Given the description of an element on the screen output the (x, y) to click on. 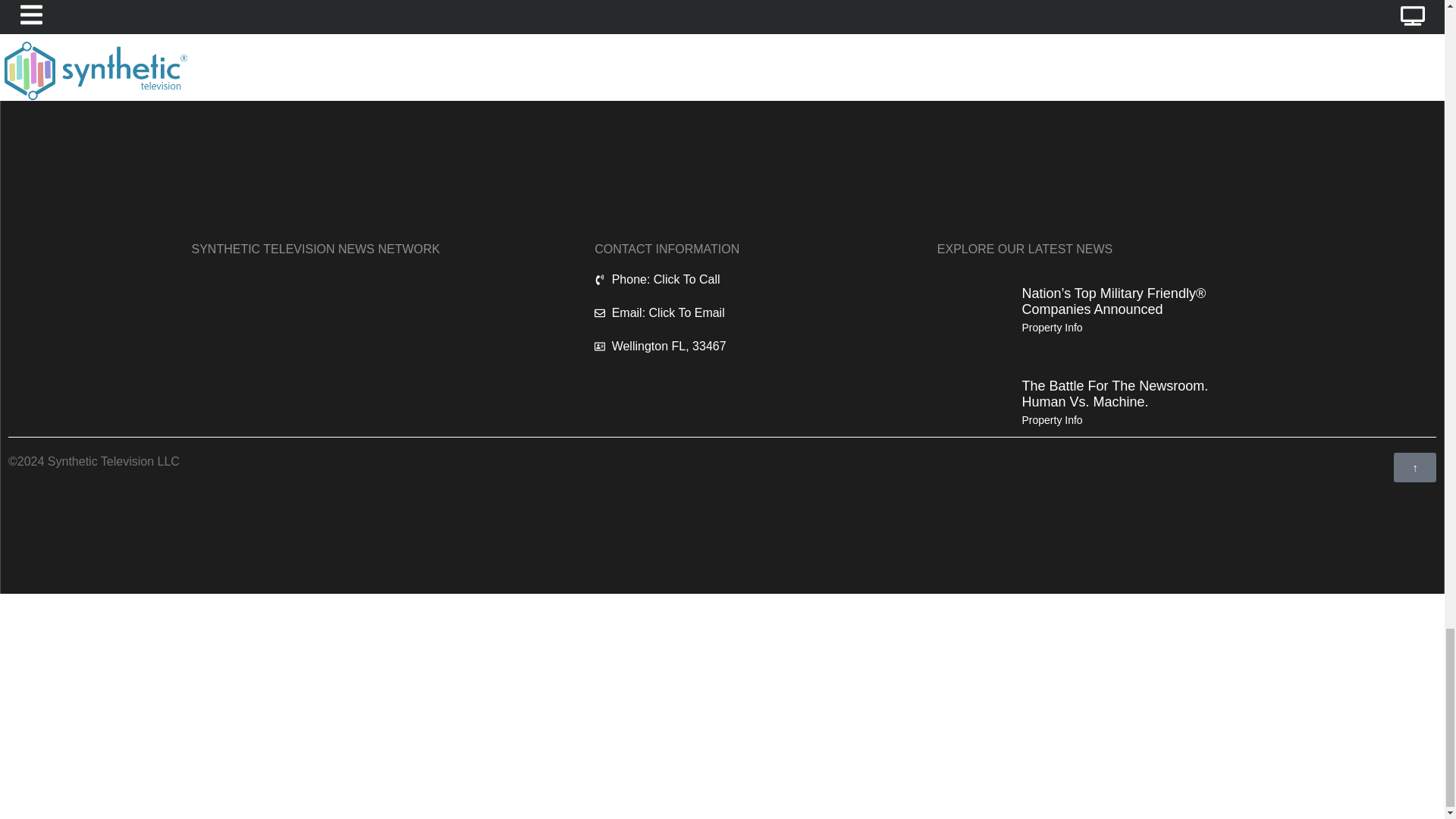
Property Info (1051, 327)
Property Info (1051, 419)
Phone: Click To Call (727, 280)
The Battle For The Newsroom. Human Vs. Machine. (1115, 394)
Email: Click To Email (727, 312)
